Given the description of an element on the screen output the (x, y) to click on. 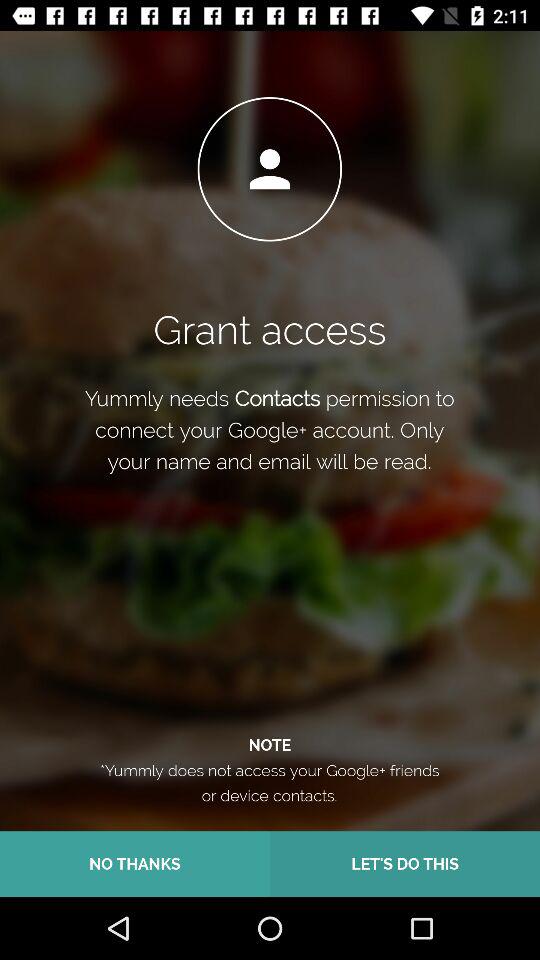
scroll until the let s do icon (405, 863)
